Given the description of an element on the screen output the (x, y) to click on. 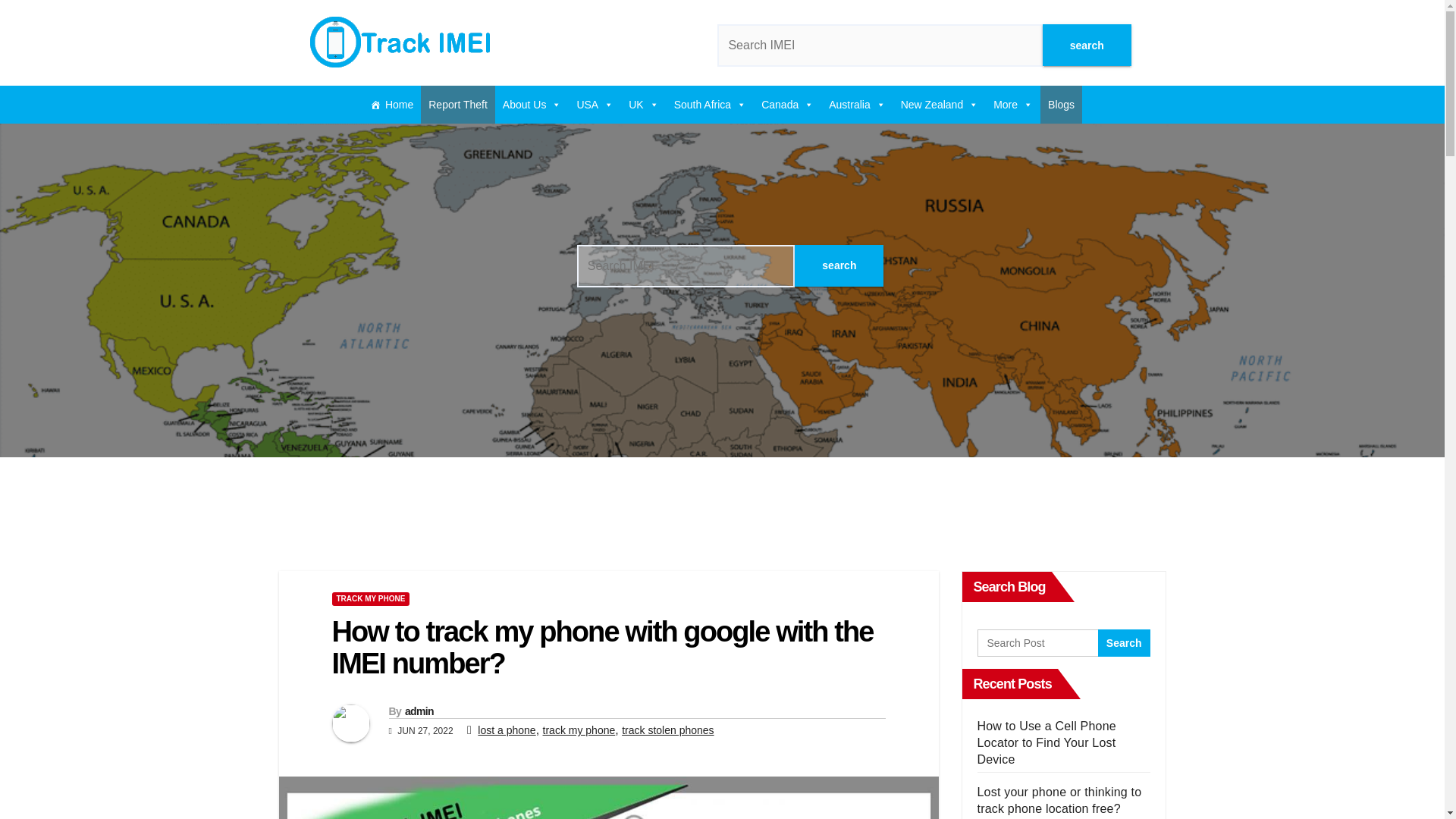
USA (595, 104)
Search (1123, 642)
search (1086, 45)
About Us (532, 104)
Home (391, 104)
UK (643, 104)
South Africa (710, 104)
search (1086, 45)
Report Theft (457, 104)
search (838, 264)
Search (1086, 45)
Search (838, 264)
Search (1123, 642)
